Given the description of an element on the screen output the (x, y) to click on. 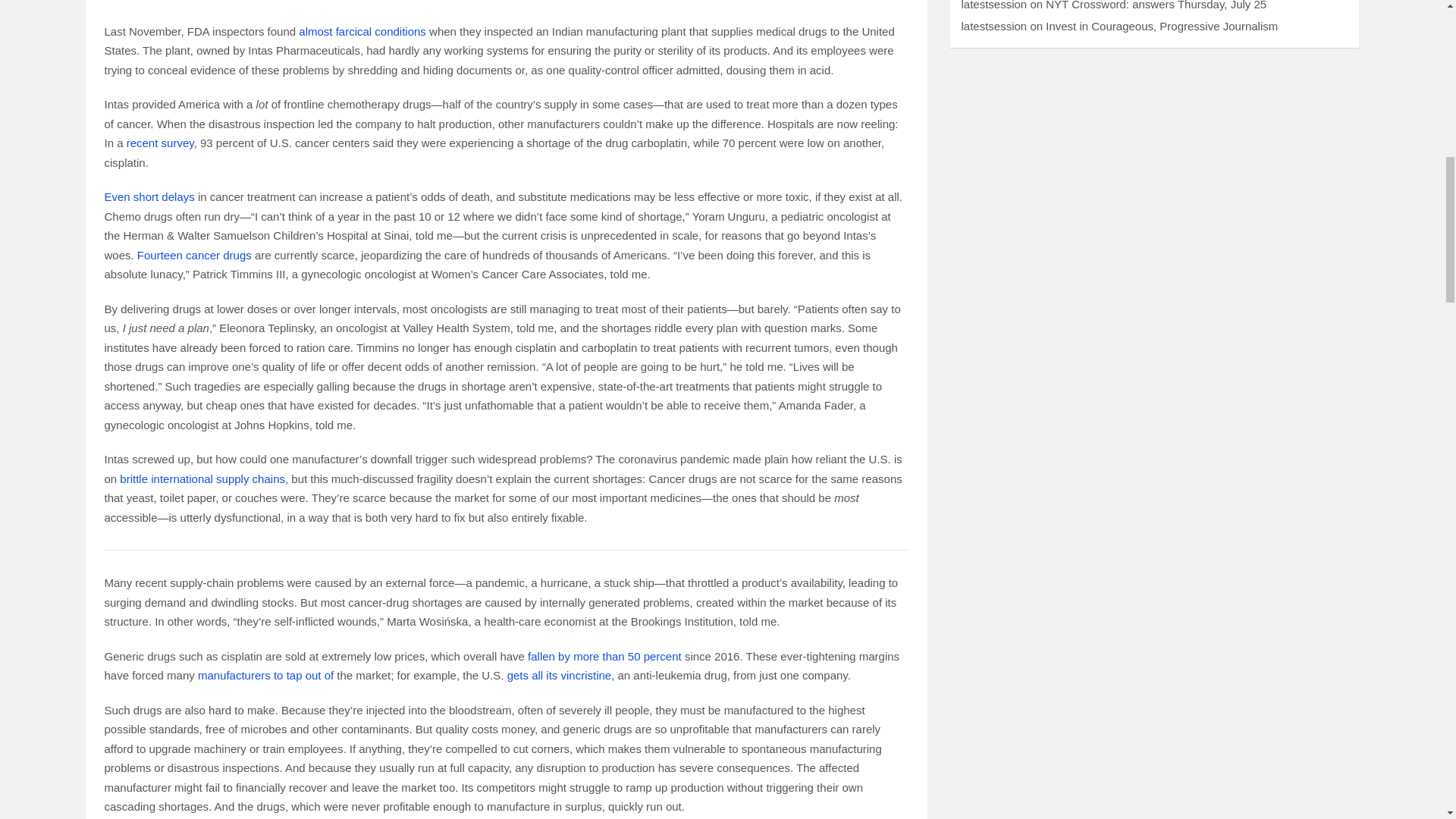
gets all its vincristine (558, 675)
Fourteen cancer drugs (193, 254)
almost farcical conditions (362, 31)
fallen by more than 50 percent (604, 656)
to tap out of (303, 675)
recent survey (159, 142)
brittle international supply chains (202, 478)
Even short delays (149, 196)
manufacturers (234, 675)
